Given the description of an element on the screen output the (x, y) to click on. 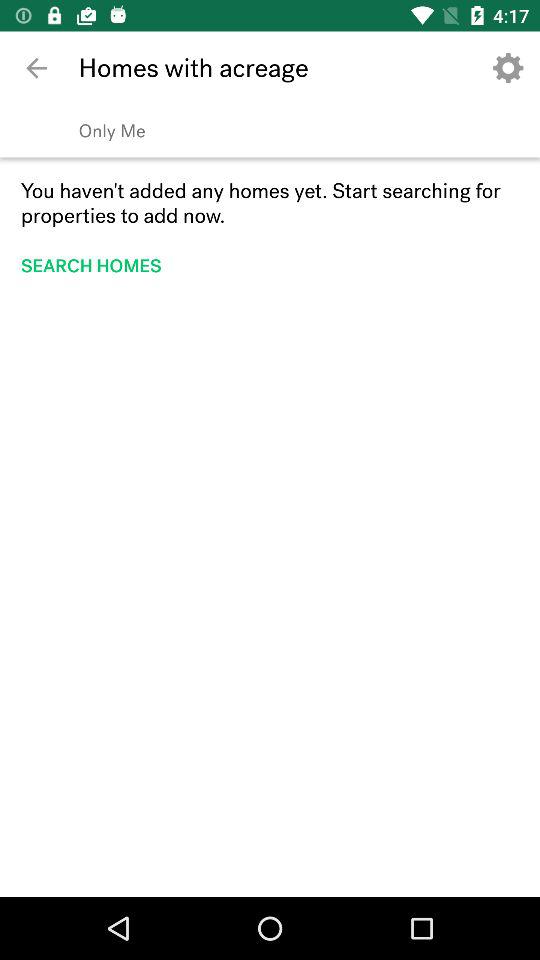
turn on the item below the you haven t item (97, 265)
